Given the description of an element on the screen output the (x, y) to click on. 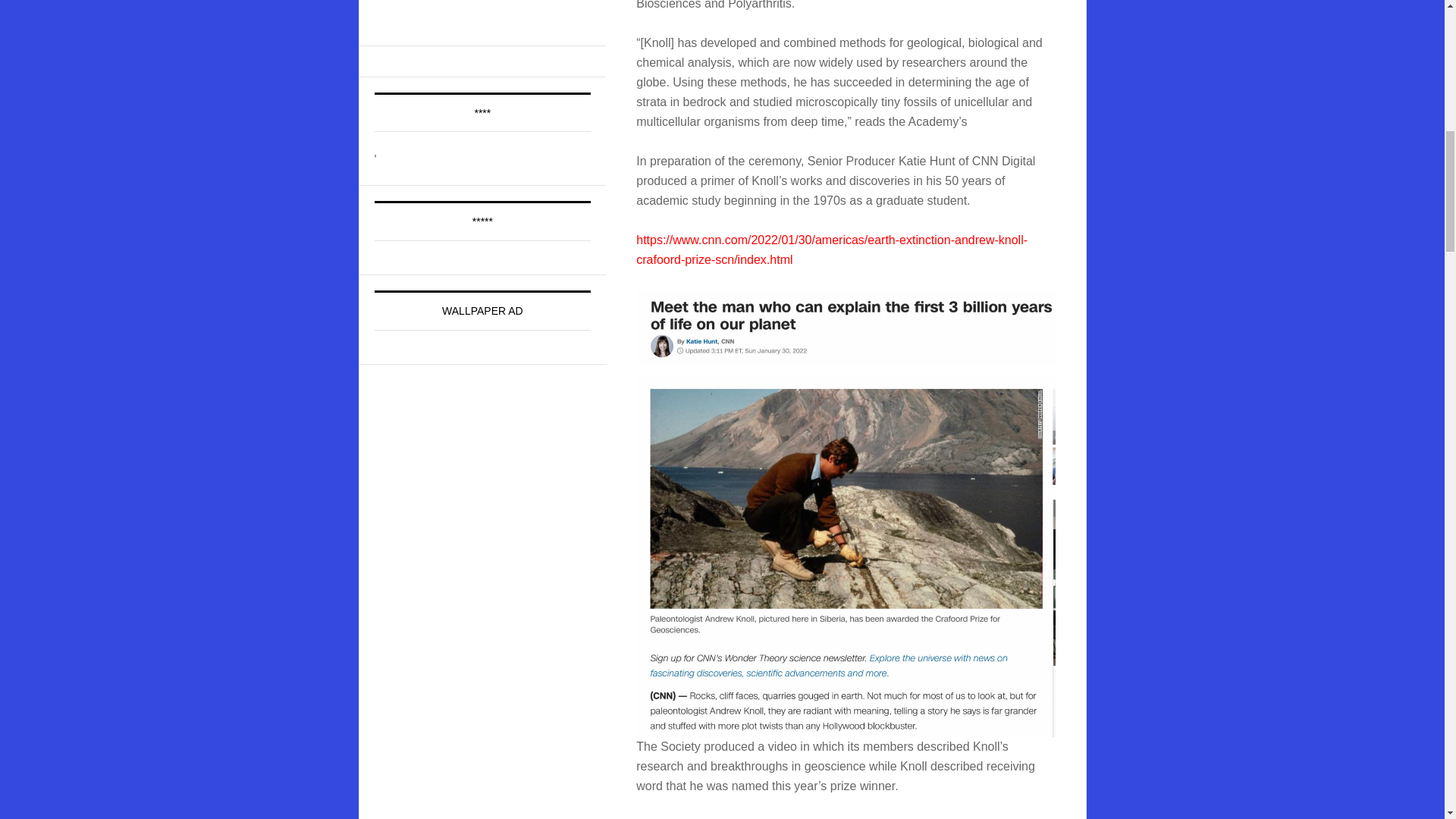
Advertisement (488, 12)
